Given the description of an element on the screen output the (x, y) to click on. 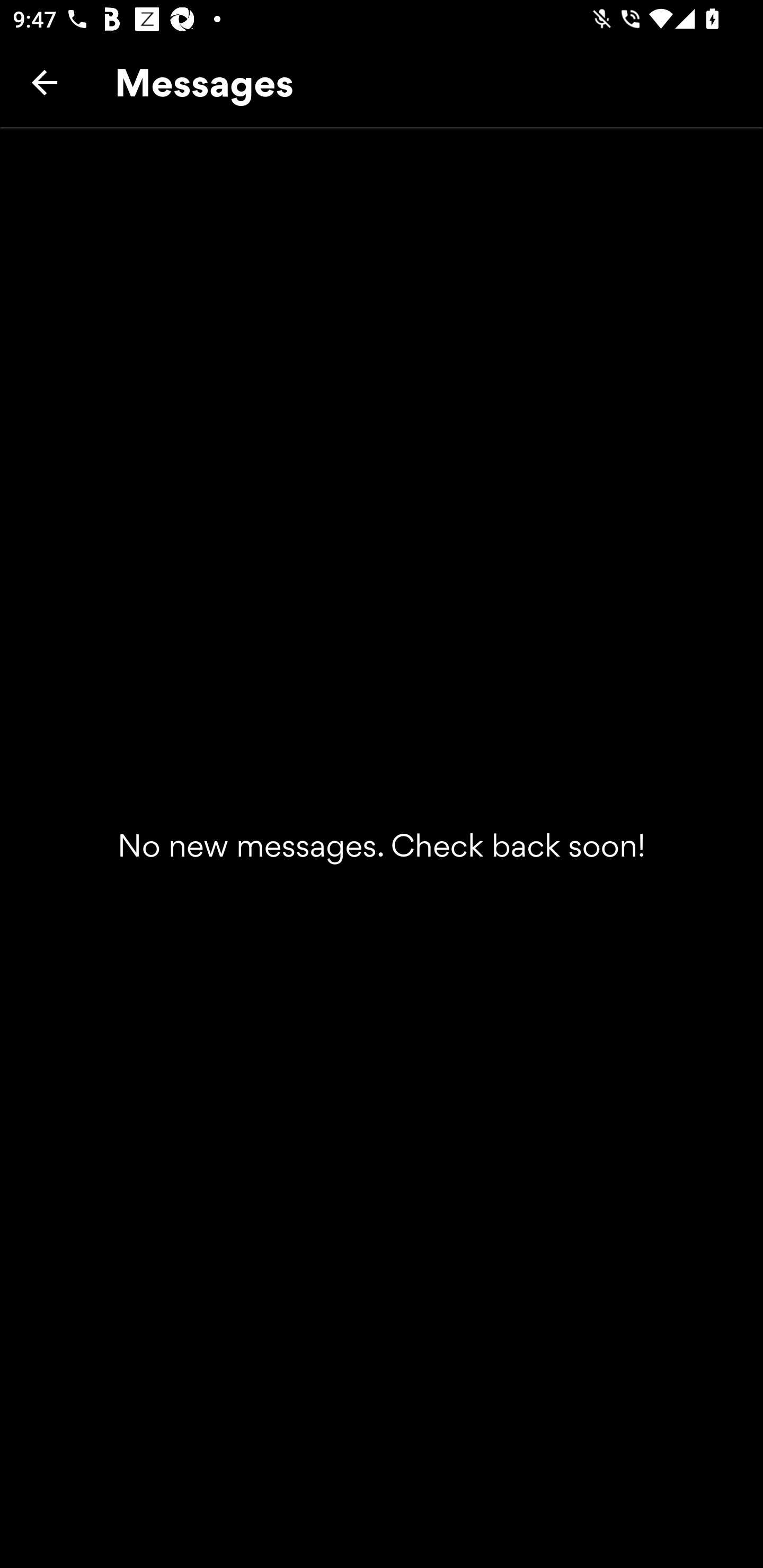
Back (44, 82)
